Given the description of an element on the screen output the (x, y) to click on. 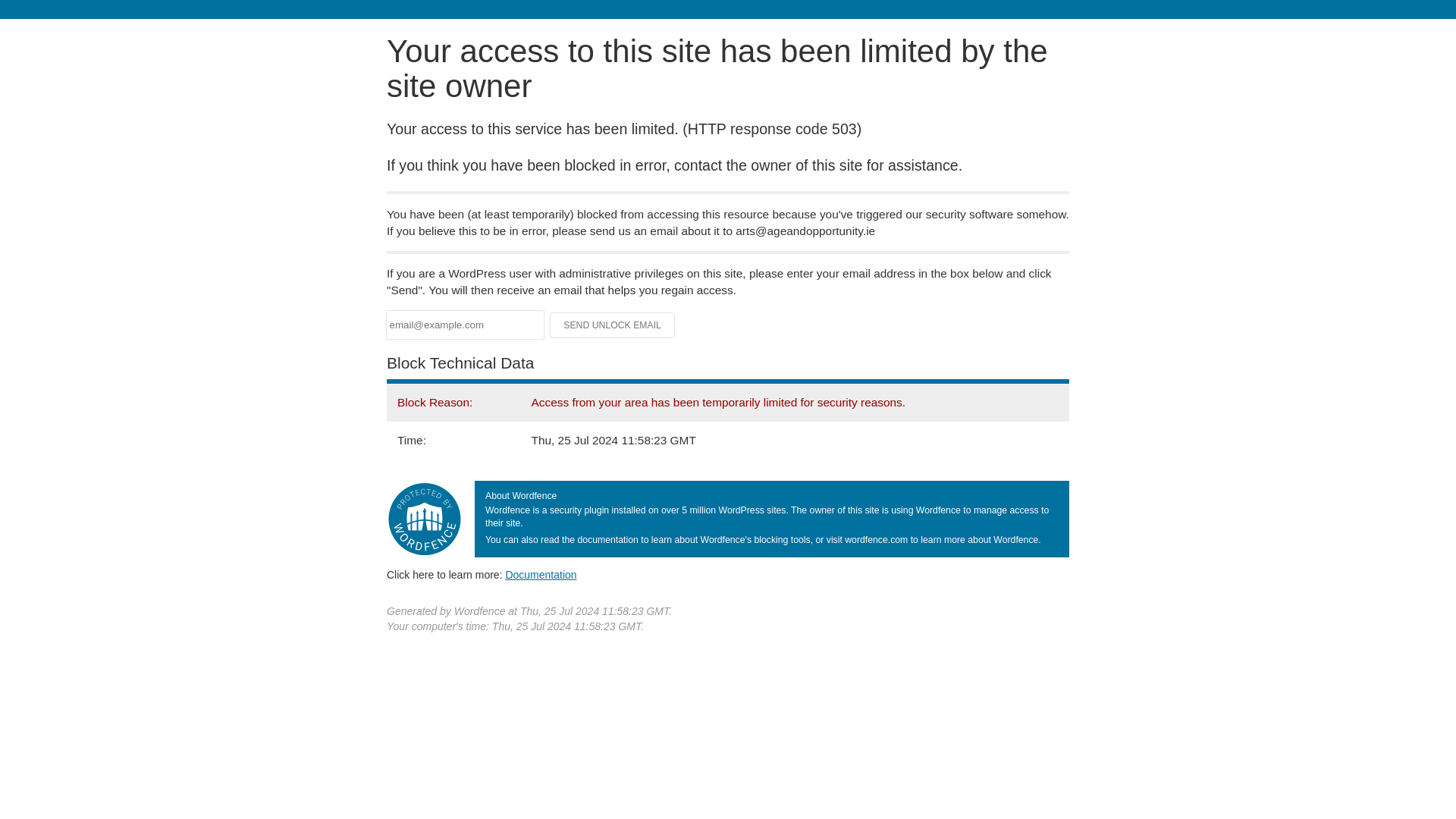
Documentation (540, 574)
Send Unlock Email (612, 325)
Send Unlock Email (612, 325)
